Given the description of an element on the screen output the (x, y) to click on. 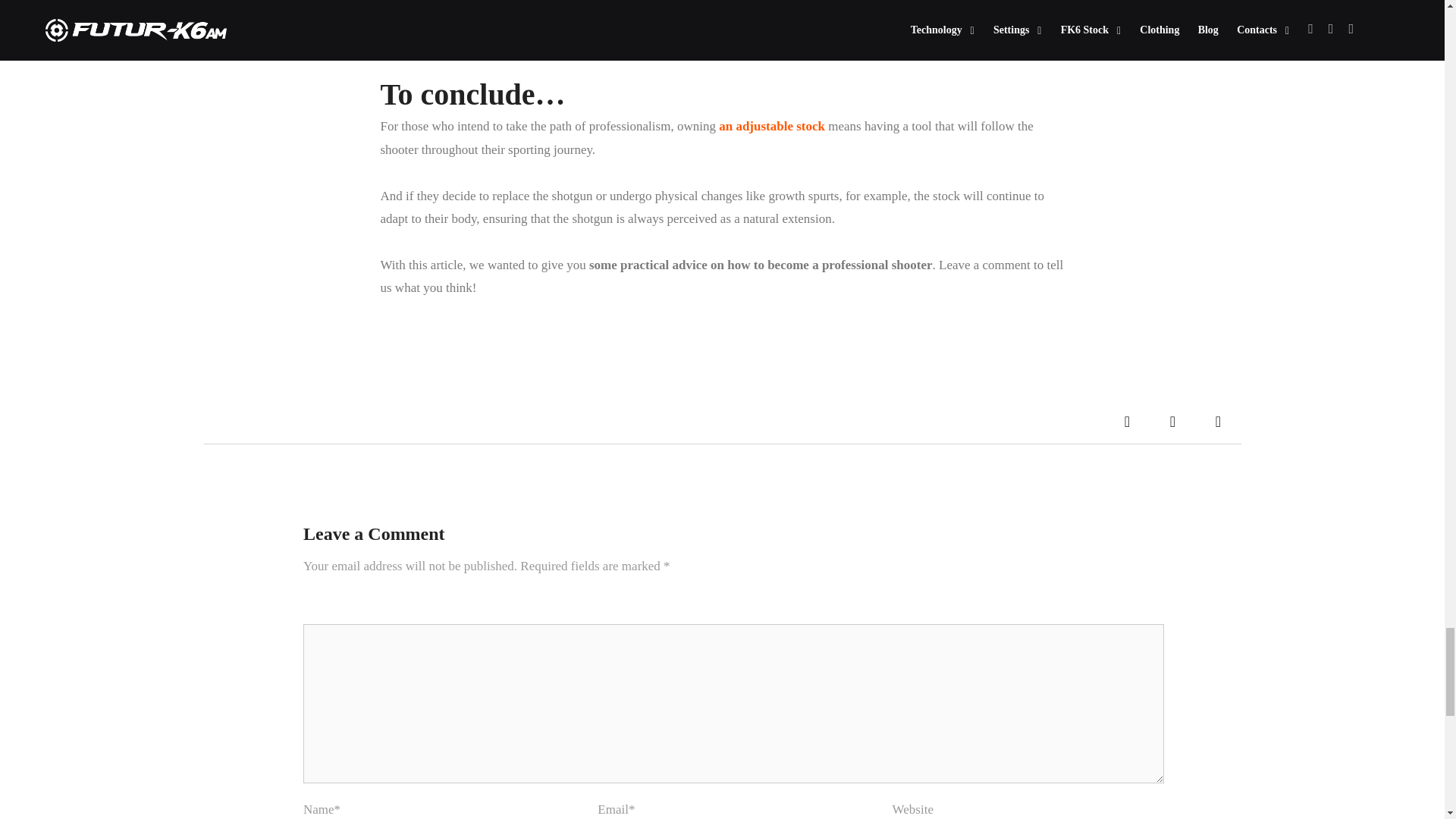
Share this. (1126, 421)
Tweet this. (1172, 421)
Pin this. (1217, 421)
